Given the description of an element on the screen output the (x, y) to click on. 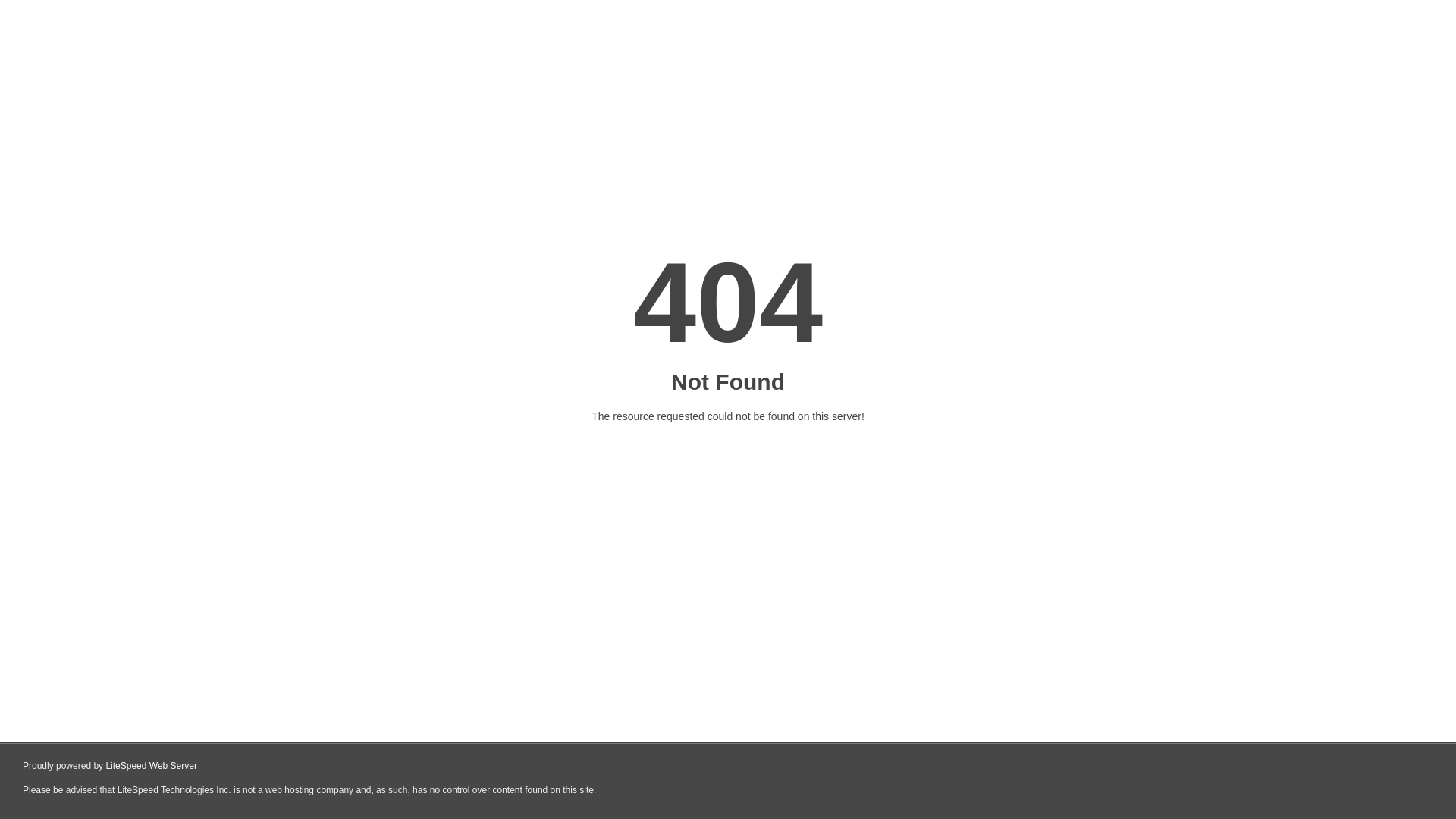
LiteSpeed Web Server Element type: text (151, 765)
